Given the description of an element on the screen output the (x, y) to click on. 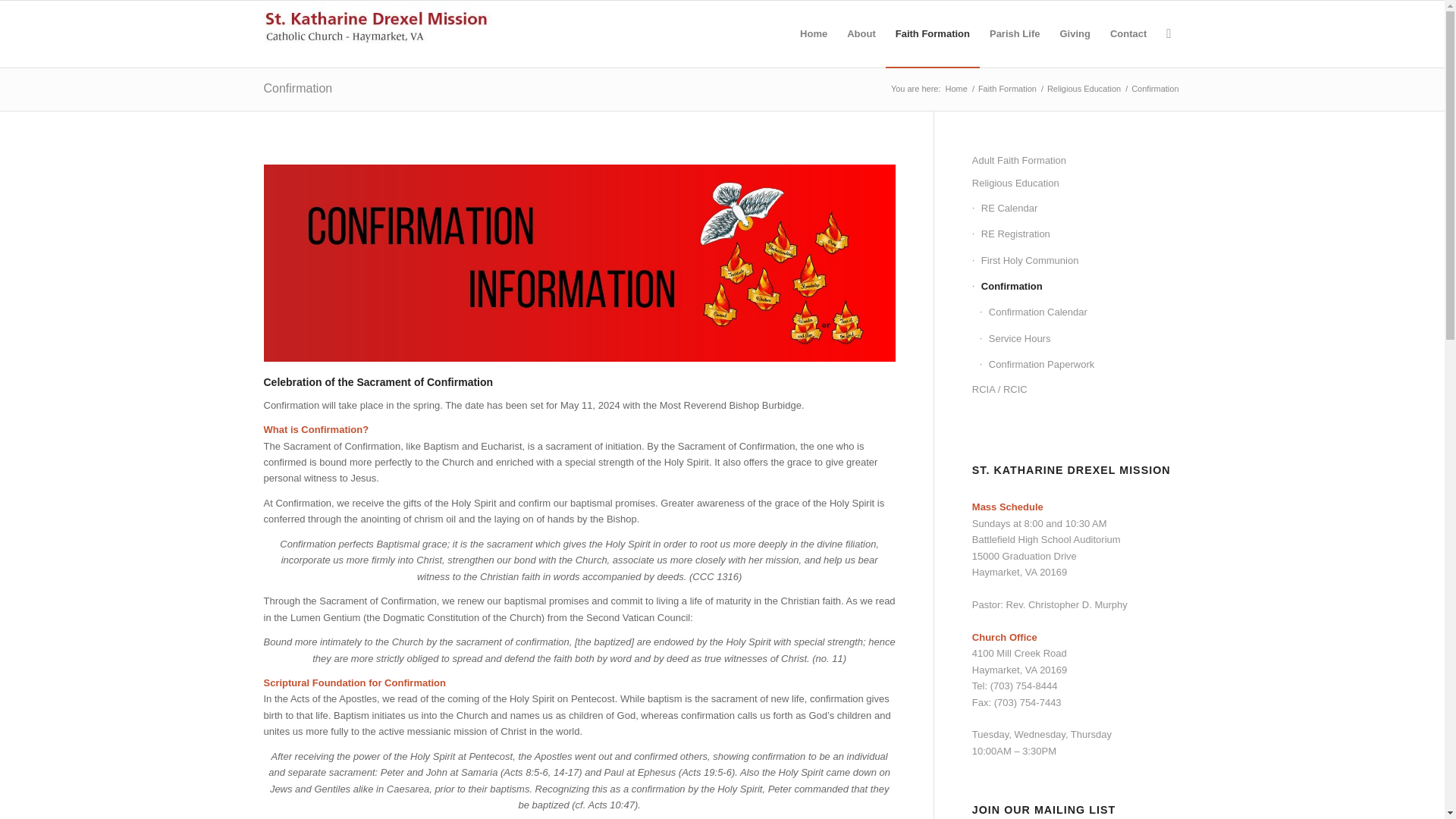
Faith Formation (932, 33)
Confirmation (298, 88)
Permanent Link: Confirmation (298, 88)
Religious Education (1083, 89)
St. Katharine Drexel Mission (956, 89)
Faith Formation (1007, 89)
Parish Life (1014, 33)
Faith Formation (932, 33)
